Given the description of an element on the screen output the (x, y) to click on. 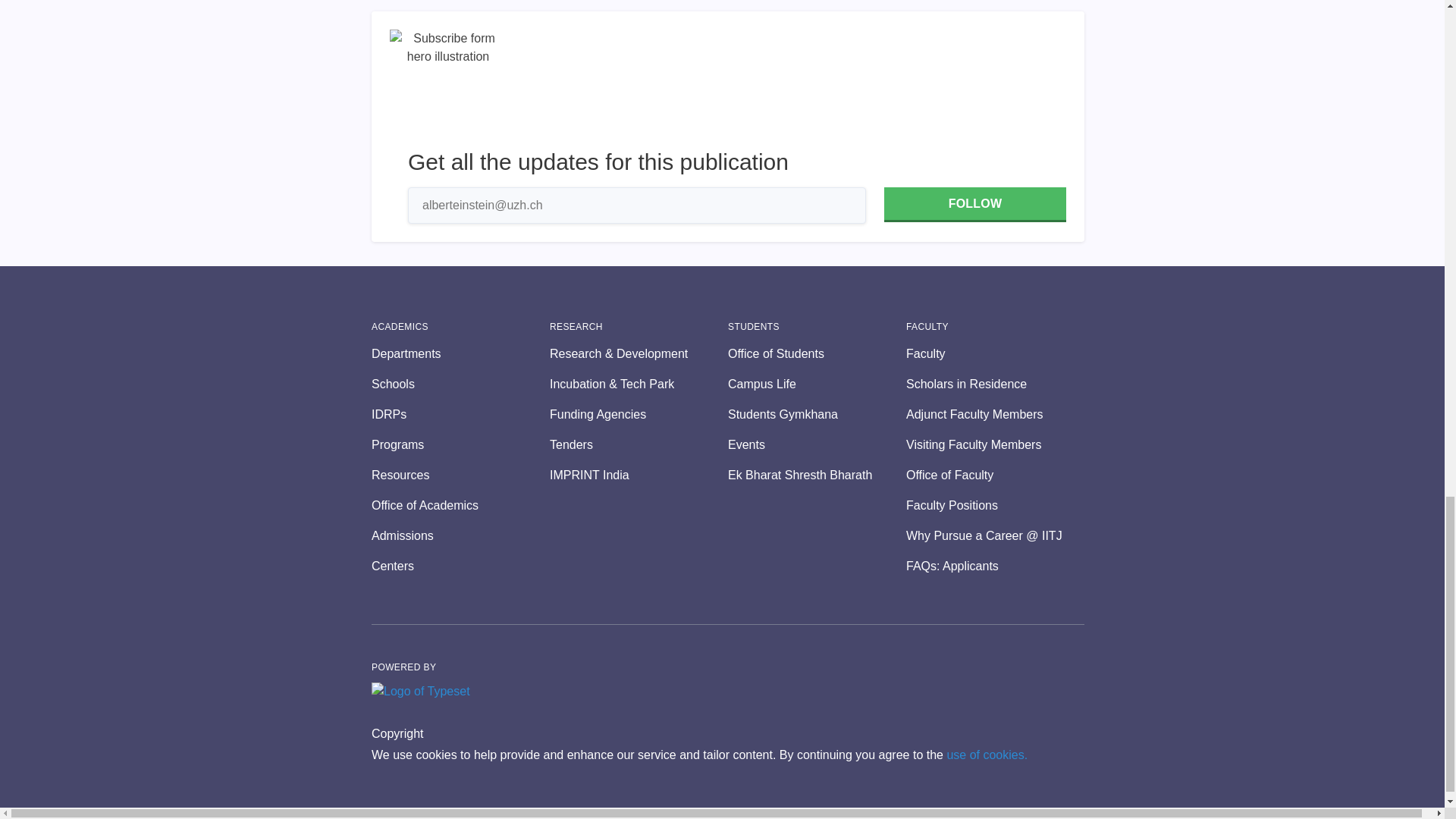
IMPRINT India (639, 475)
Office of Academics (460, 505)
IDRPs (460, 414)
FOLLOW (974, 204)
Admissions (460, 536)
Students Gymkhana (816, 414)
Resources (460, 475)
Programs (460, 444)
Office of Students (816, 353)
Subscribe form hero illustration (448, 87)
